Given the description of an element on the screen output the (x, y) to click on. 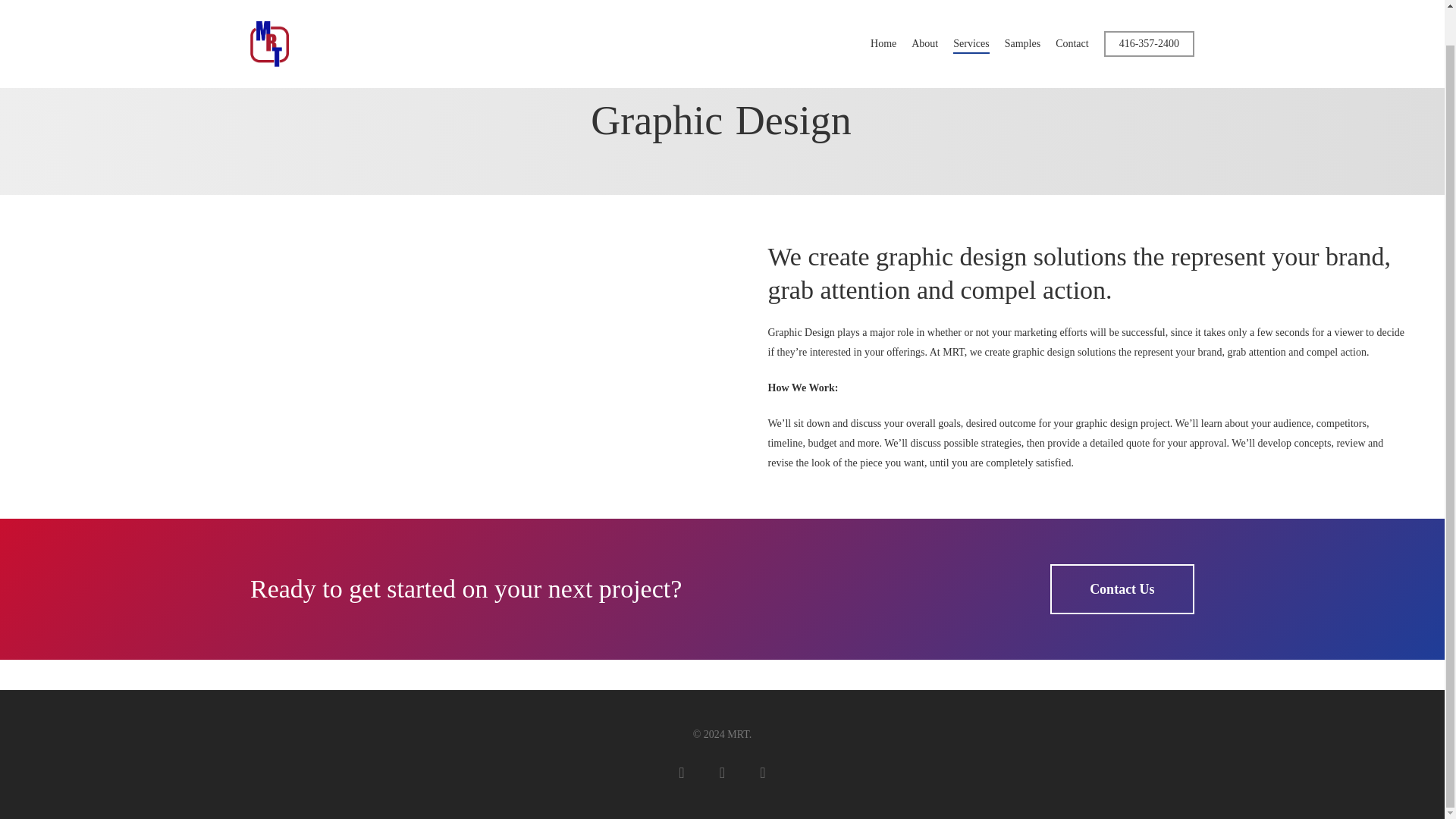
Contact (1072, 7)
416-357-2400 (1148, 7)
About (924, 7)
Home (883, 7)
Services (970, 7)
Samples (1022, 7)
Contact Us (1121, 589)
